Given the description of an element on the screen output the (x, y) to click on. 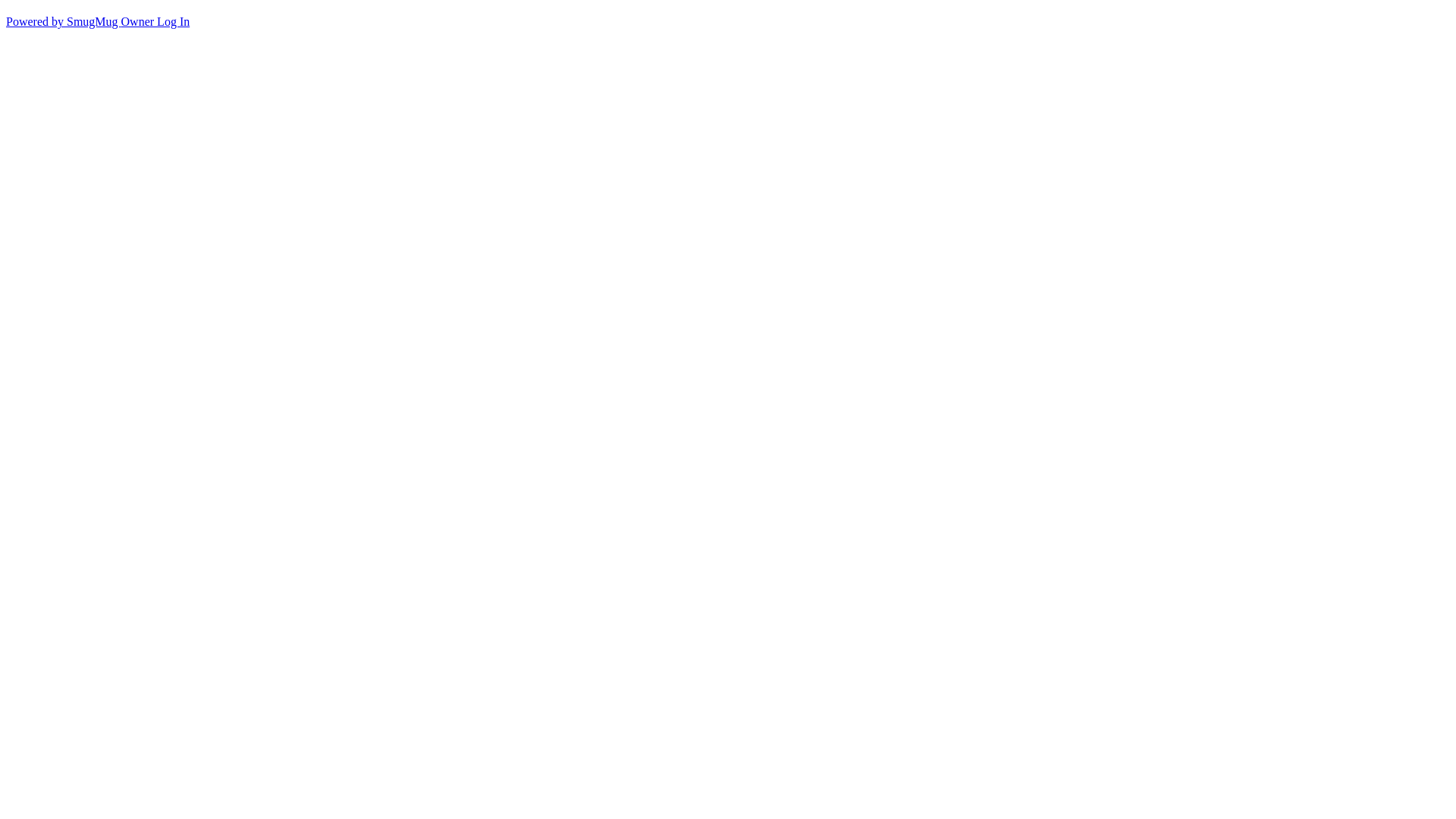
Owner Log In Element type: text (155, 21)
Powered by SmugMug Element type: text (63, 21)
